Given the description of an element on the screen output the (x, y) to click on. 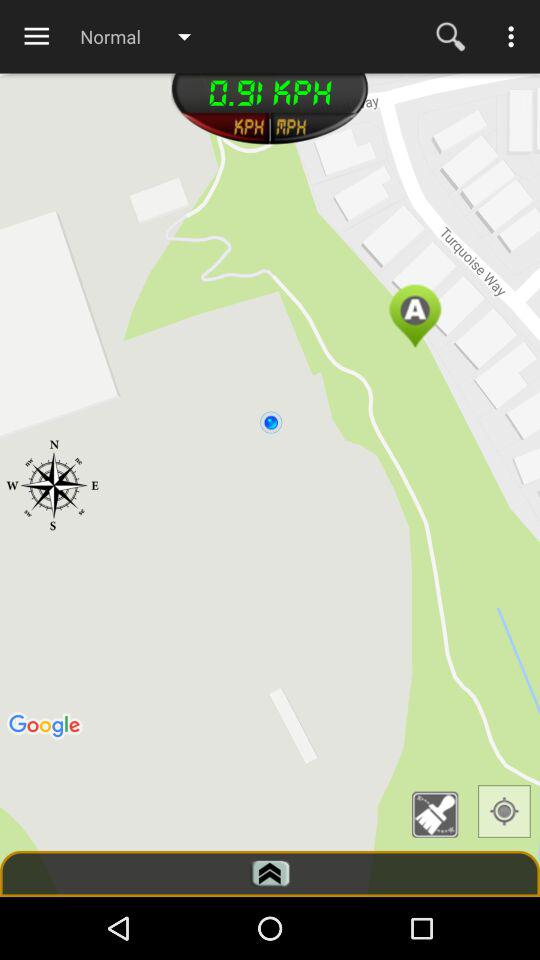
click on gps icon (503, 811)
click on paint icon (441, 814)
click on the icon at the bottom of the page (269, 874)
click on normal on the left most corner of the web page (144, 36)
